Given the description of an element on the screen output the (x, y) to click on. 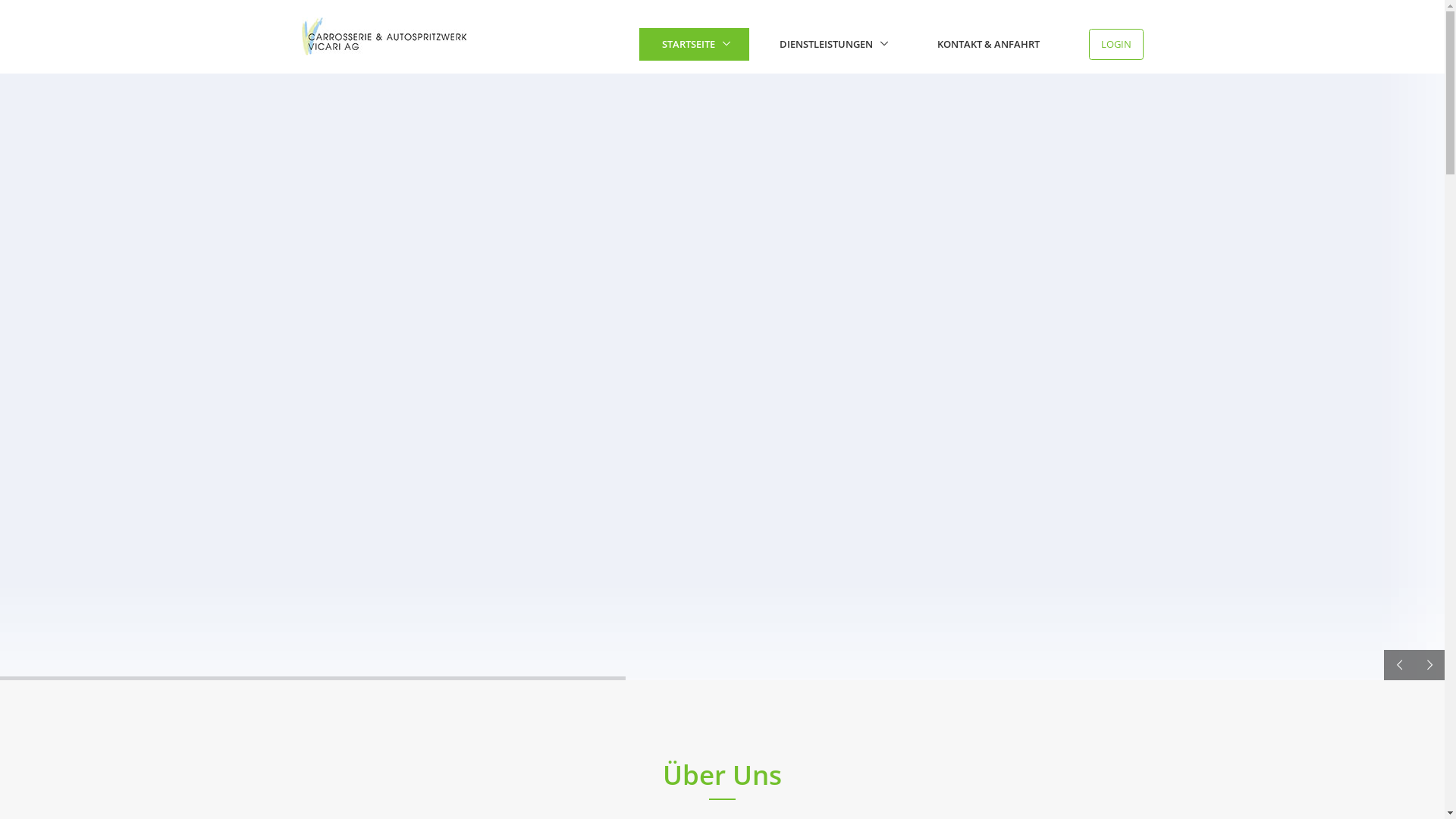
STARTSEITE Element type: text (694, 44)
LOGIN Element type: text (1115, 44)
DIENSTLEISTUNGEN Element type: text (831, 44)
KONTAKT & ANFAHRT Element type: text (988, 44)
